Given the description of an element on the screen output the (x, y) to click on. 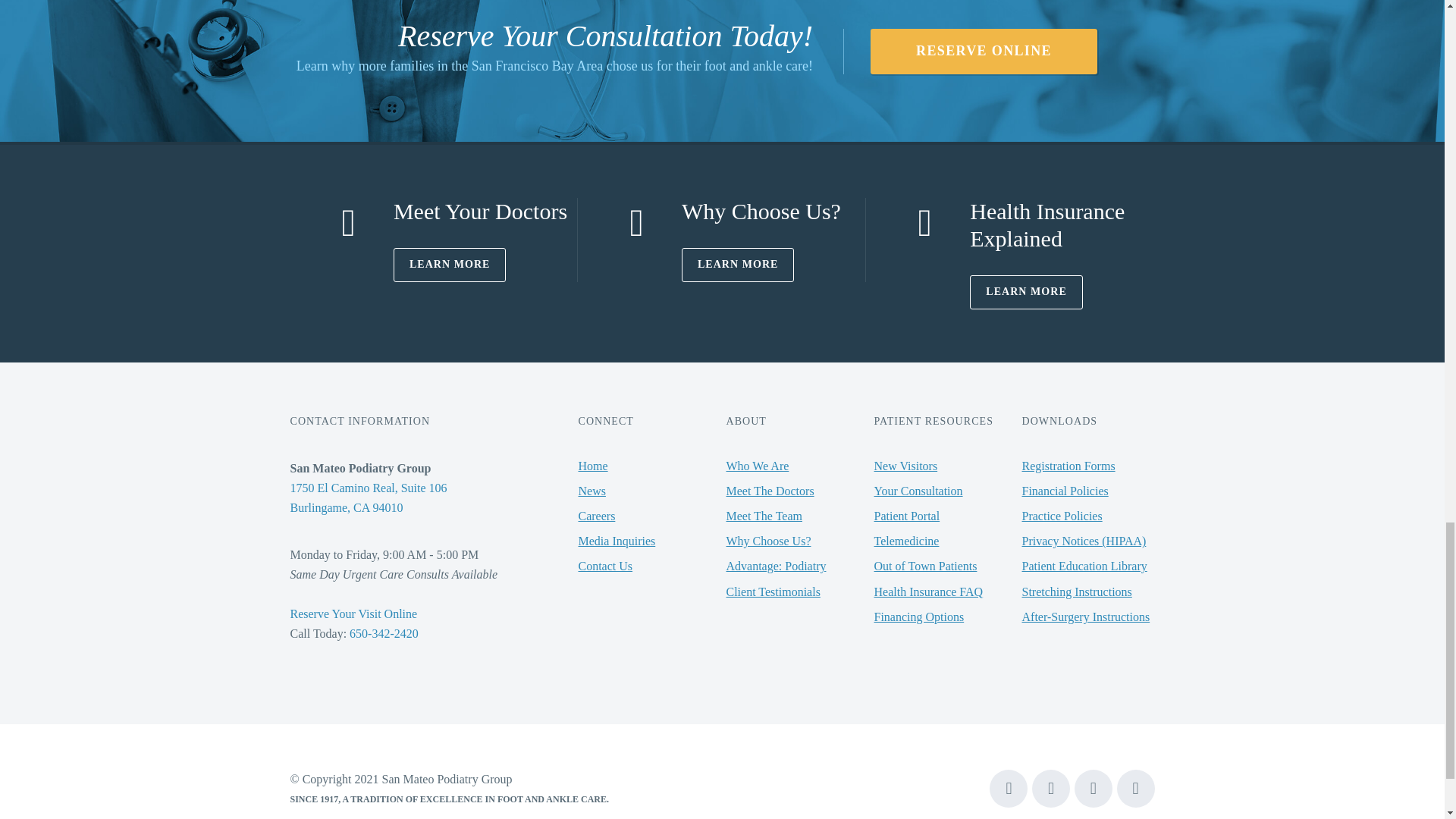
LinkedIn (1135, 788)
Burlingame, CA 94010 (346, 507)
Why Choose Us? (761, 211)
LEARN MORE (737, 264)
Meet Your Doctors (480, 211)
Health Insurance Explained (1046, 224)
YouTube (1051, 788)
RESERVE ONLINE (983, 51)
LEARN MORE (1026, 292)
1750 El Camino Real, Suite 106 (367, 487)
LEARN MORE (449, 264)
Facebook (1008, 788)
